Given the description of an element on the screen output the (x, y) to click on. 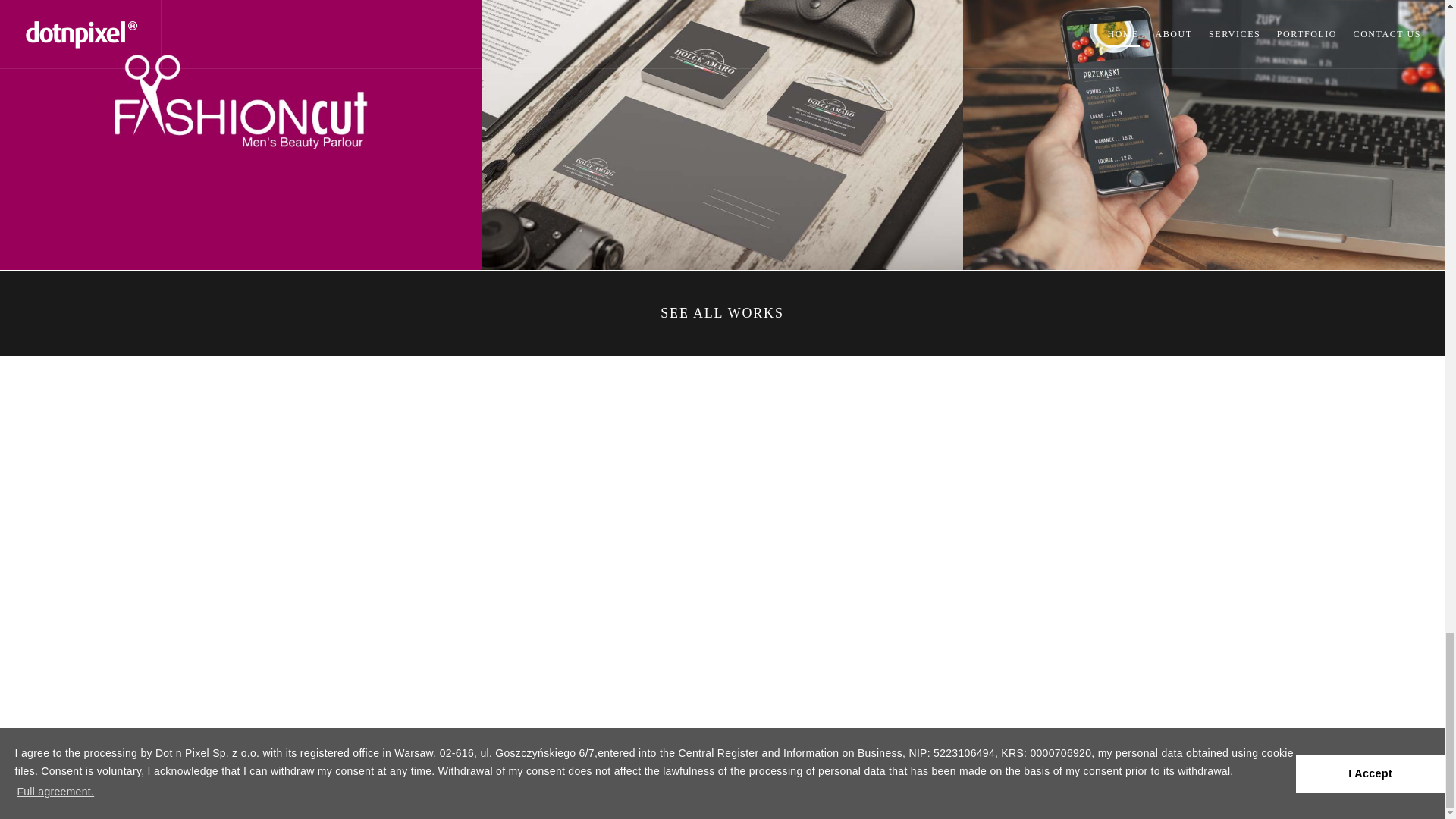
Cookies Policy (967, 774)
Privacy Policy (1051, 774)
